Given the description of an element on the screen output the (x, y) to click on. 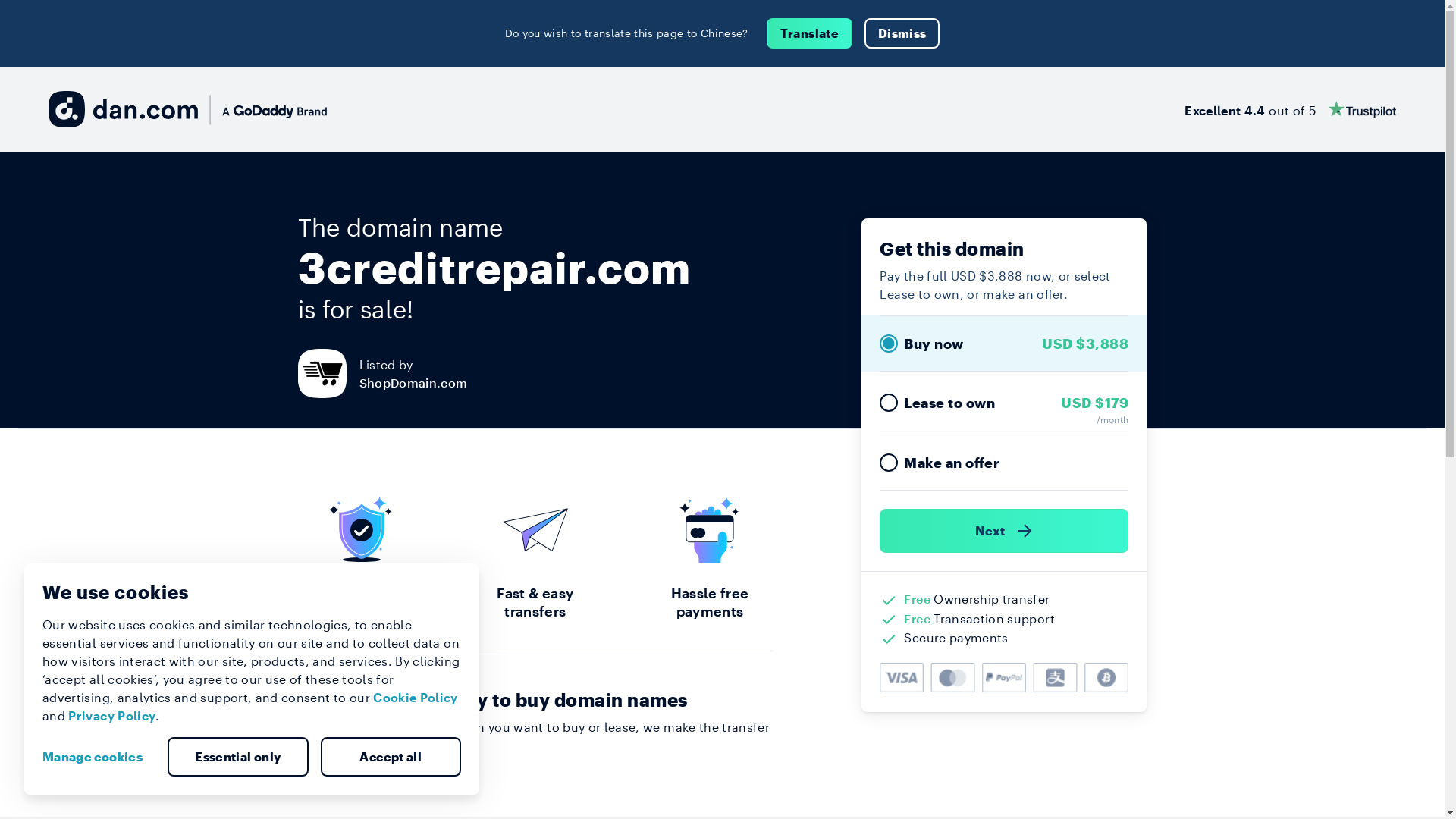
Next
) Element type: text (1003, 530)
Dismiss Element type: text (901, 33)
Privacy Policy Element type: text (111, 715)
Excellent 4.4 out of 5 Element type: text (1290, 109)
Translate Element type: text (809, 33)
Cookie Policy Element type: text (415, 697)
Essential only Element type: text (237, 756)
Accept all Element type: text (390, 756)
Manage cookies Element type: text (98, 756)
